Given the description of an element on the screen output the (x, y) to click on. 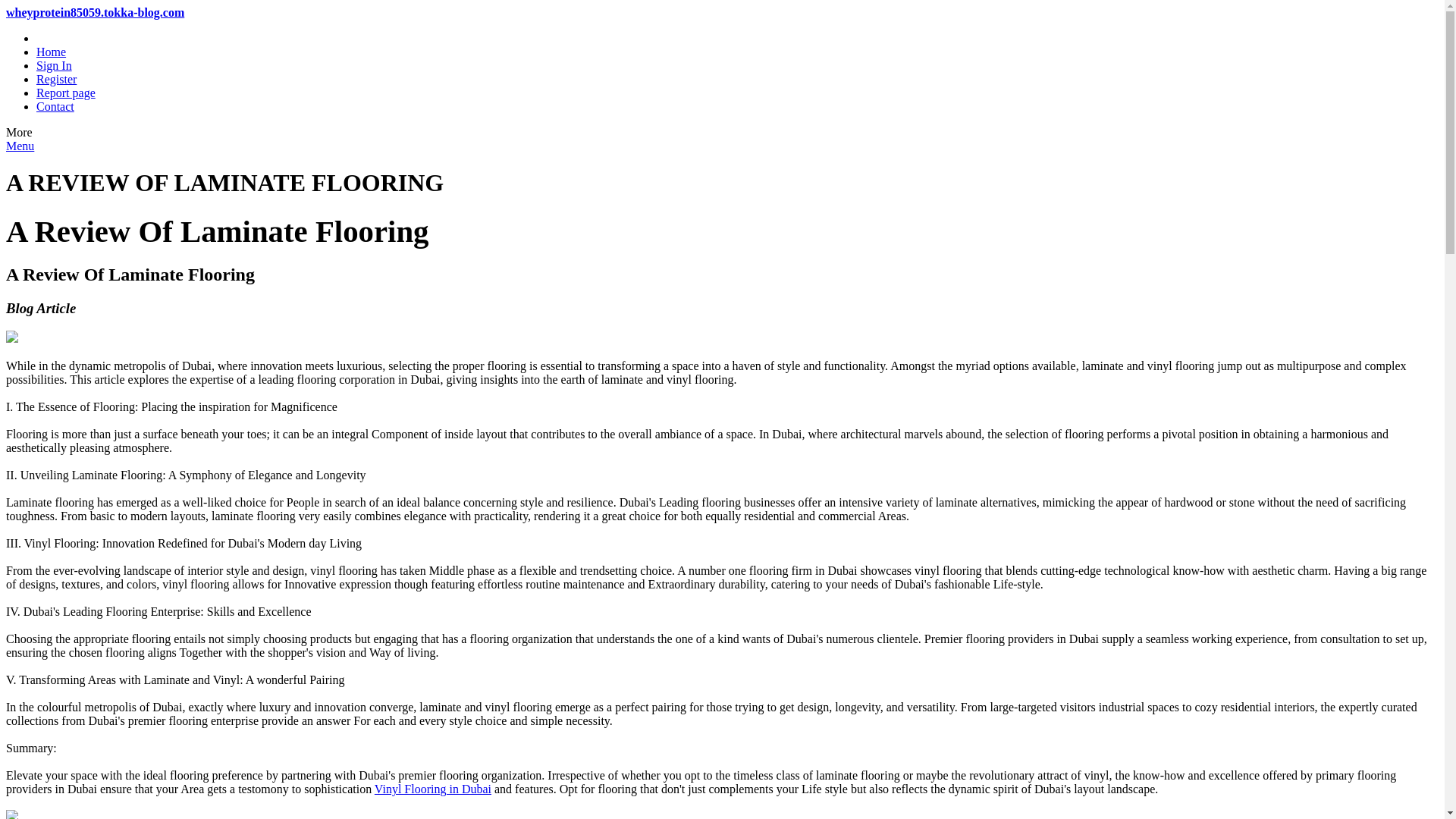
Sign In (53, 65)
wheyprotein85059.tokka-blog.com (94, 11)
Report page (66, 92)
Menu (19, 145)
Contact (55, 106)
Vinyl Flooring in Dubai (433, 788)
Home (50, 51)
Register (56, 78)
